Given the description of an element on the screen output the (x, y) to click on. 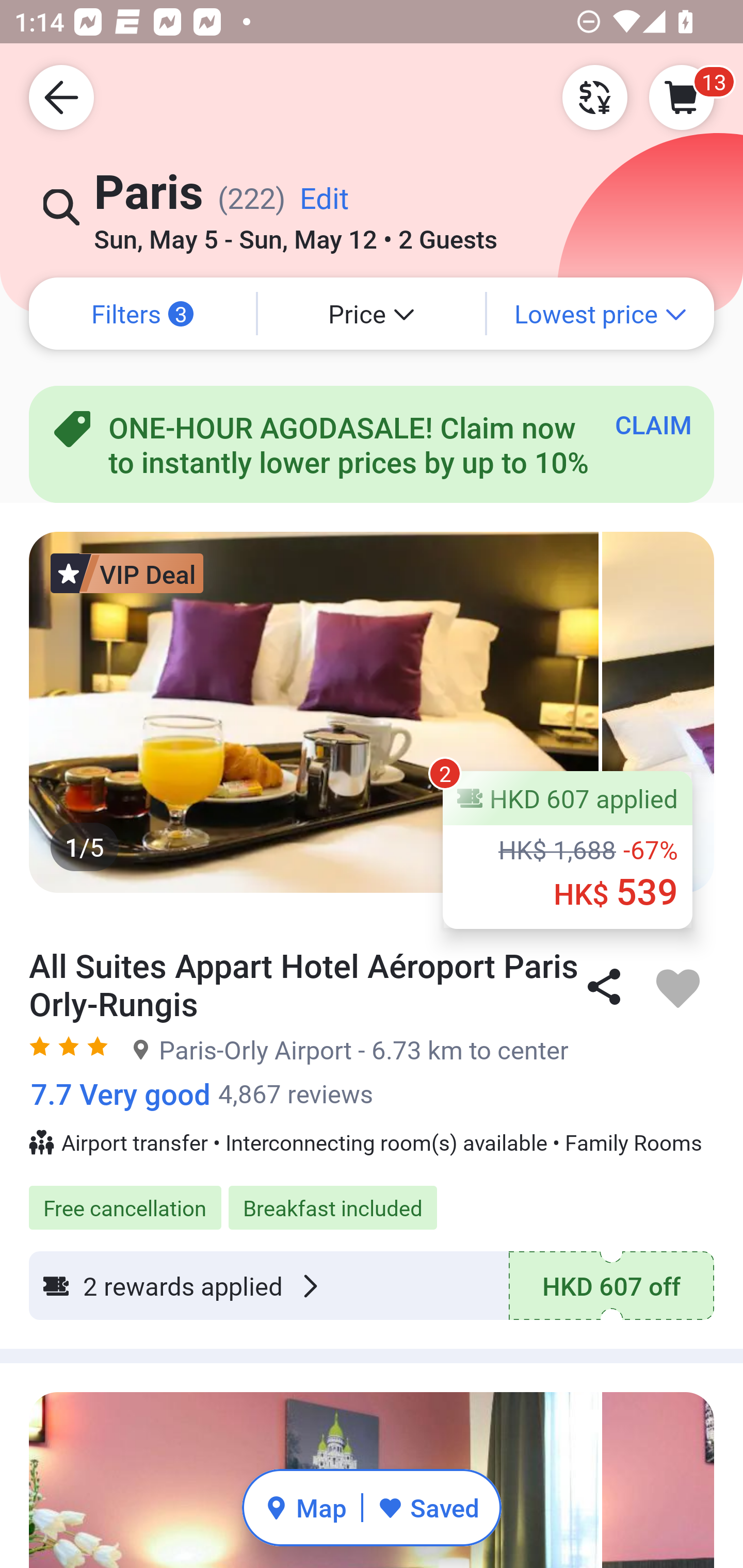
Sun, May 5 - Sun, May 12 • 2 Guests (295, 232)
Filters 3 (141, 313)
Price (371, 313)
Lowest price (600, 313)
CLAIM (653, 424)
VIP Deal (126, 572)
1/5 (371, 711)
HKD 607 applied ‪HK$ 1,688 -67% ‪HK$ 539 2 (567, 849)
Free cancellation Breakfast included (371, 1197)
2 rewards applied HKD 607 off (371, 1285)
Map (305, 1507)
Saved (428, 1507)
